Given the description of an element on the screen output the (x, y) to click on. 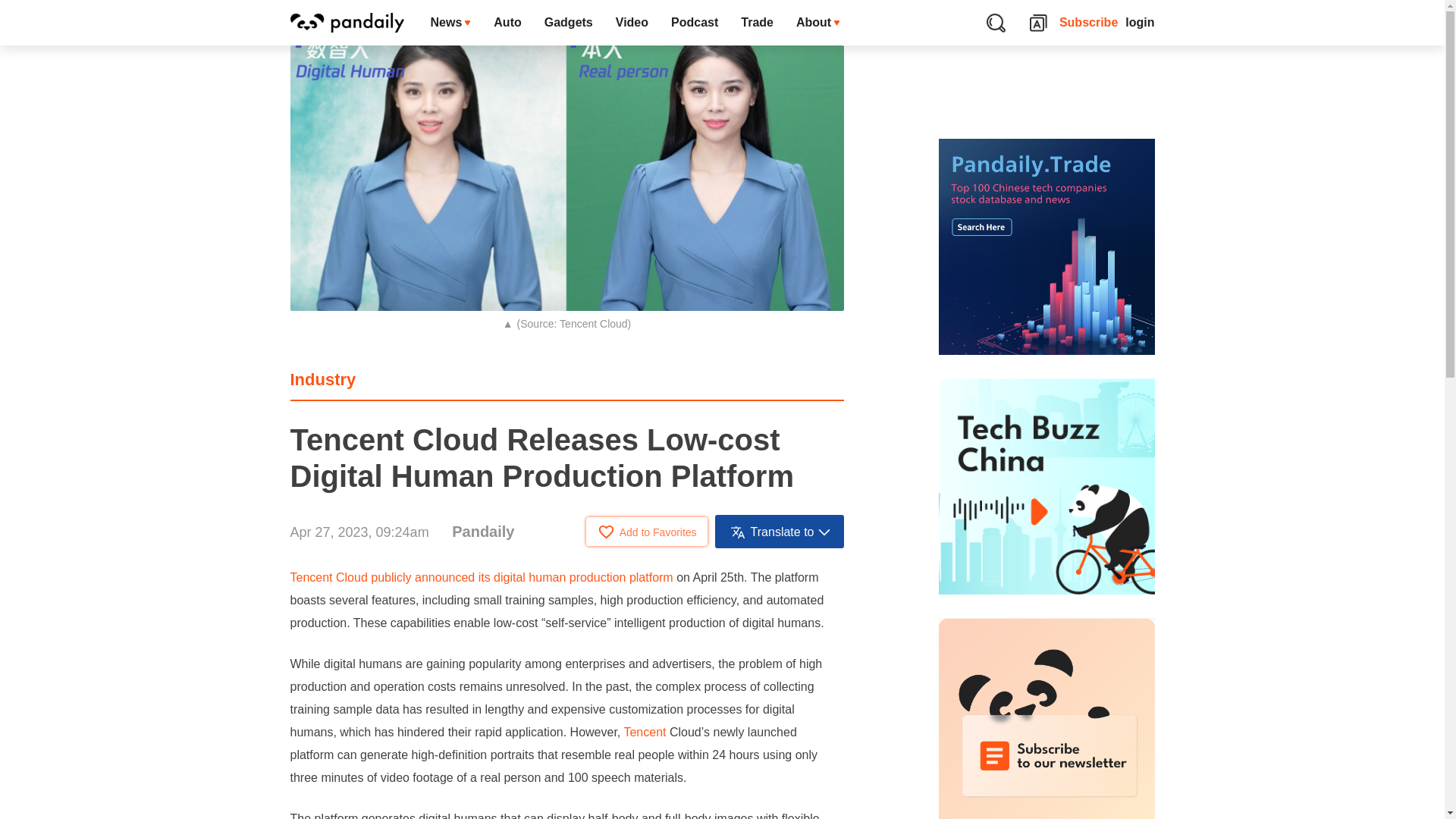
Subscribe (1088, 22)
Trade (756, 22)
Video (631, 22)
News (450, 22)
Translate to (779, 531)
Auto (506, 22)
Pandaily (482, 531)
Industry (322, 379)
About (817, 22)
